Given the description of an element on the screen output the (x, y) to click on. 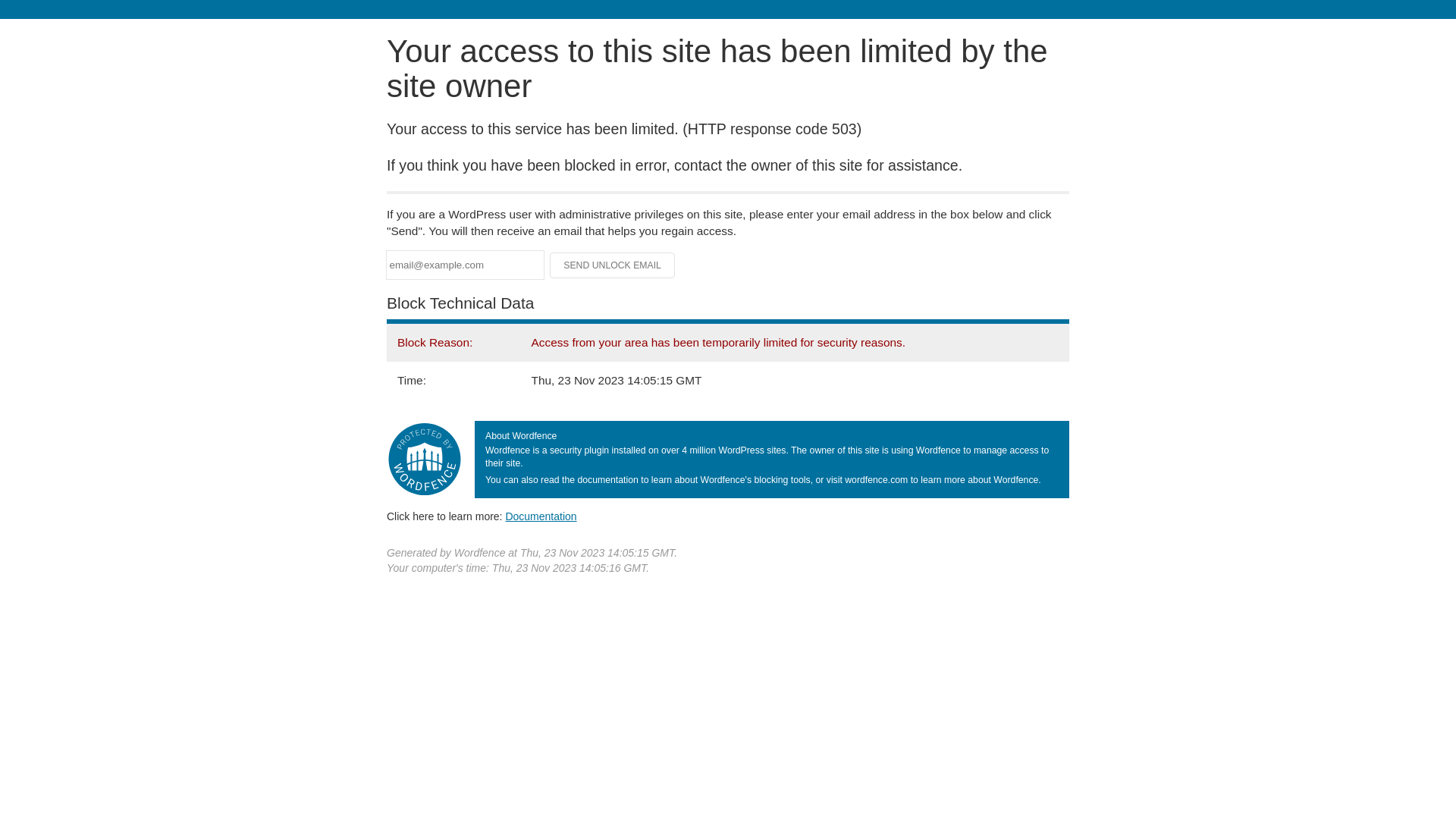
Send Unlock Email Element type: text (612, 265)
Documentation Element type: text (540, 516)
